Given the description of an element on the screen output the (x, y) to click on. 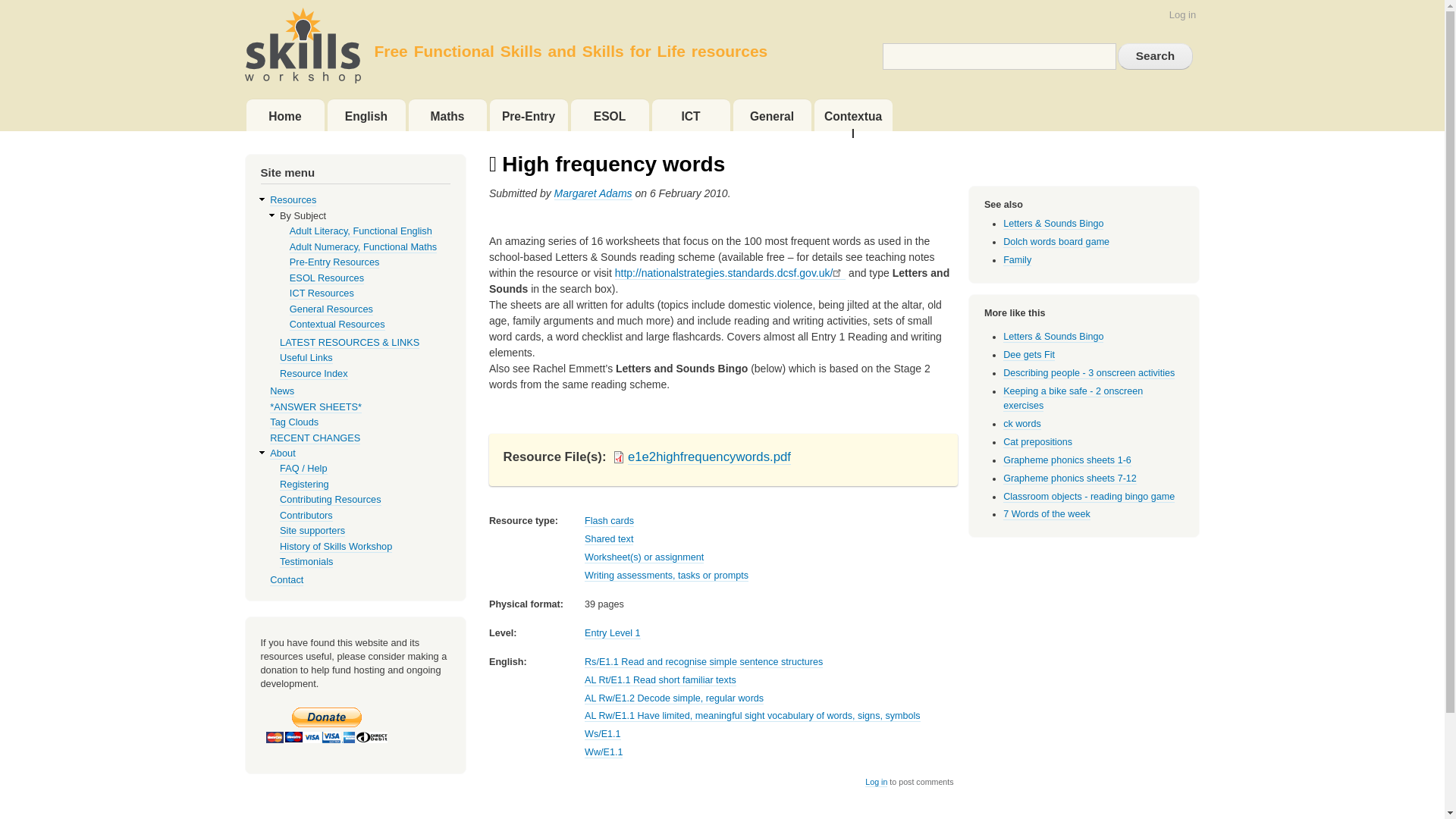
Home (284, 115)
Family (1016, 260)
Skip to main content (722, 1)
Entry Level 1 (612, 633)
Dee gets Fit (1028, 355)
English (366, 115)
History of Skills Workshop (335, 546)
General (771, 115)
ESOL (608, 115)
View user profile. (592, 193)
Margaret Adams (592, 193)
Site supporters (312, 530)
Keeping a bike safe - 2 onscreen exercises (1072, 398)
Frequently-asked Questions (303, 468)
Dolch words board game (1056, 242)
